Given the description of an element on the screen output the (x, y) to click on. 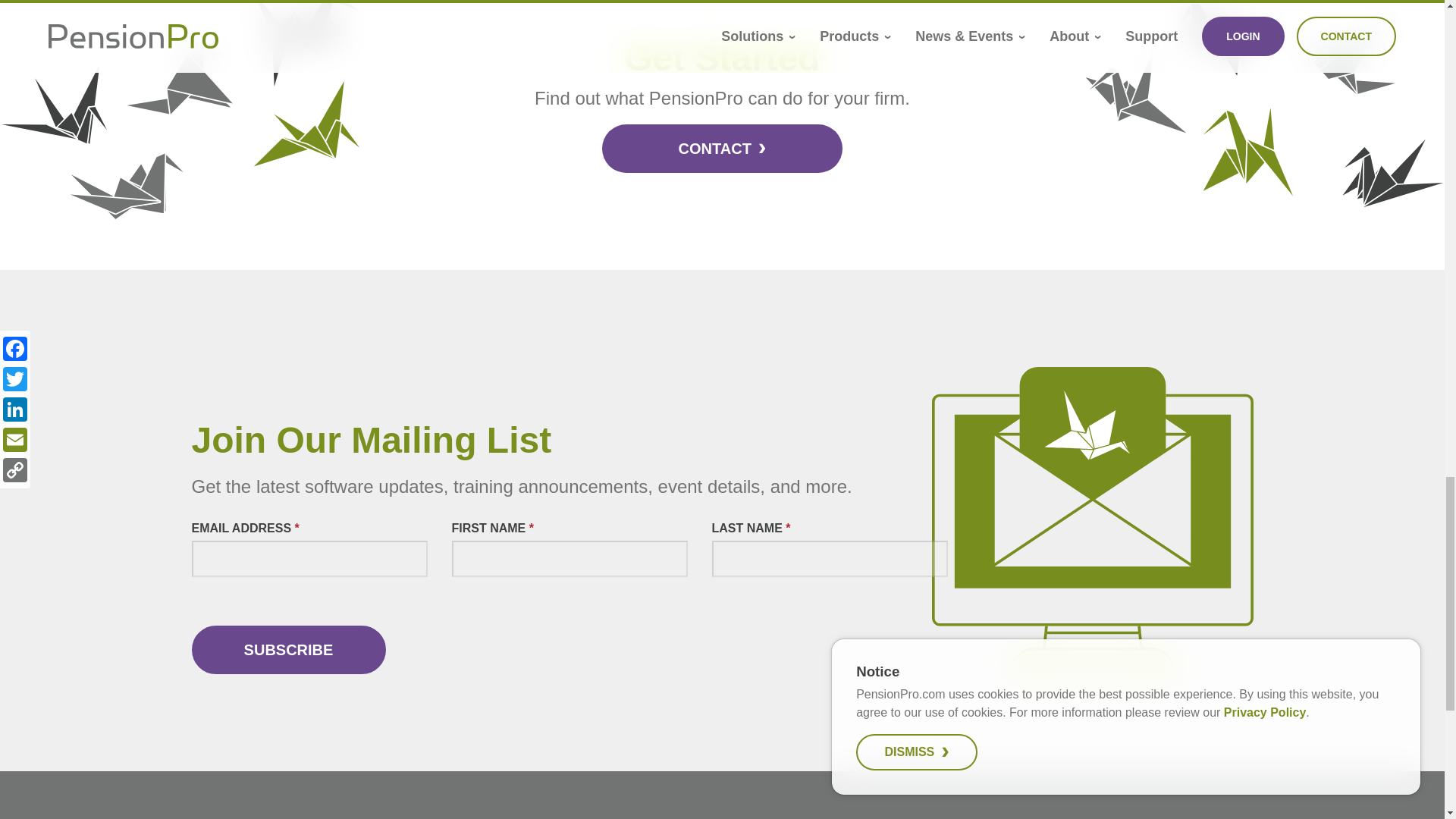
Subscribe (287, 649)
